Given the description of an element on the screen output the (x, y) to click on. 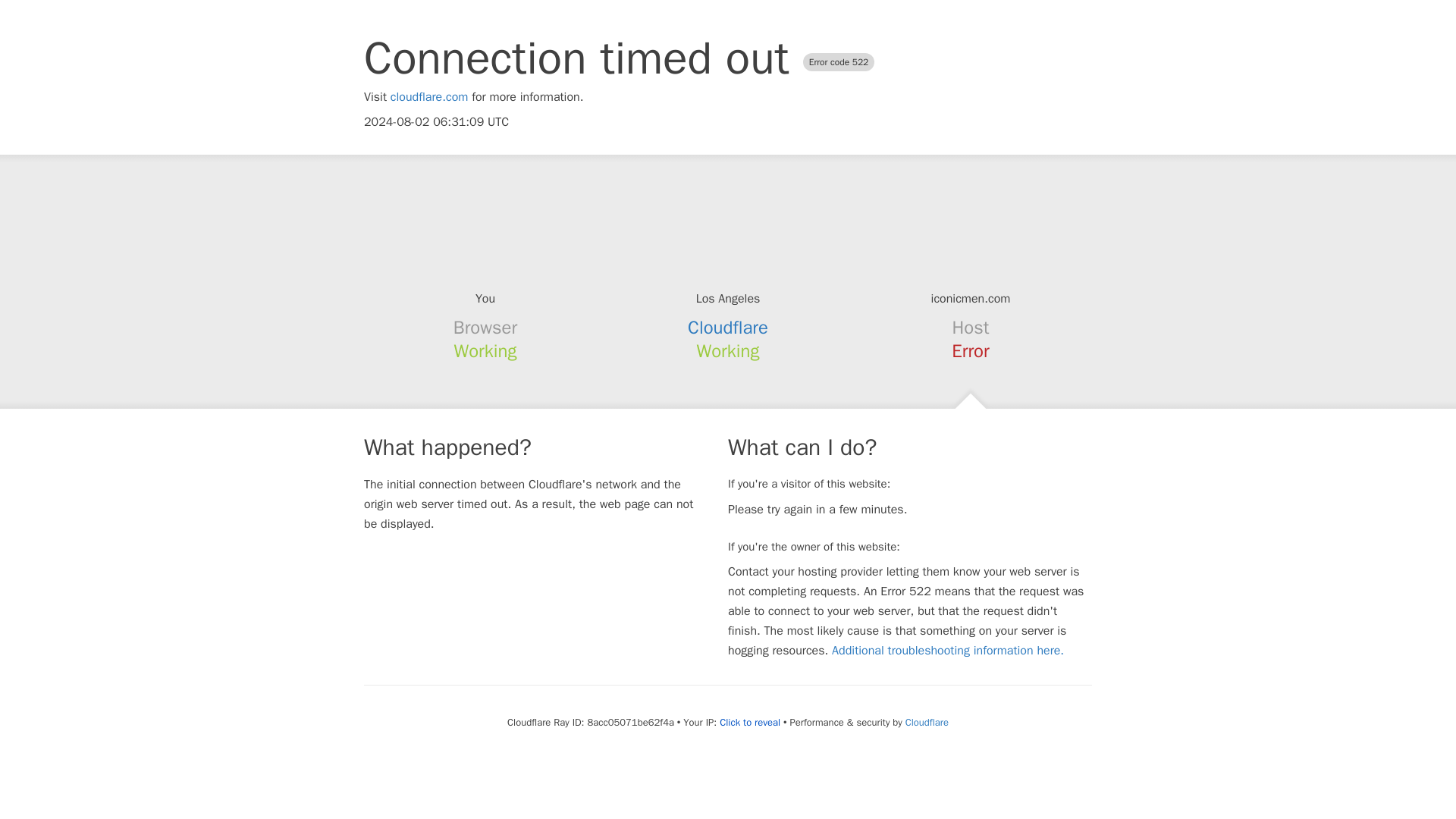
Click to reveal (749, 722)
Cloudflare (927, 721)
Additional troubleshooting information here. (947, 650)
Cloudflare (727, 327)
cloudflare.com (429, 96)
